Given the description of an element on the screen output the (x, y) to click on. 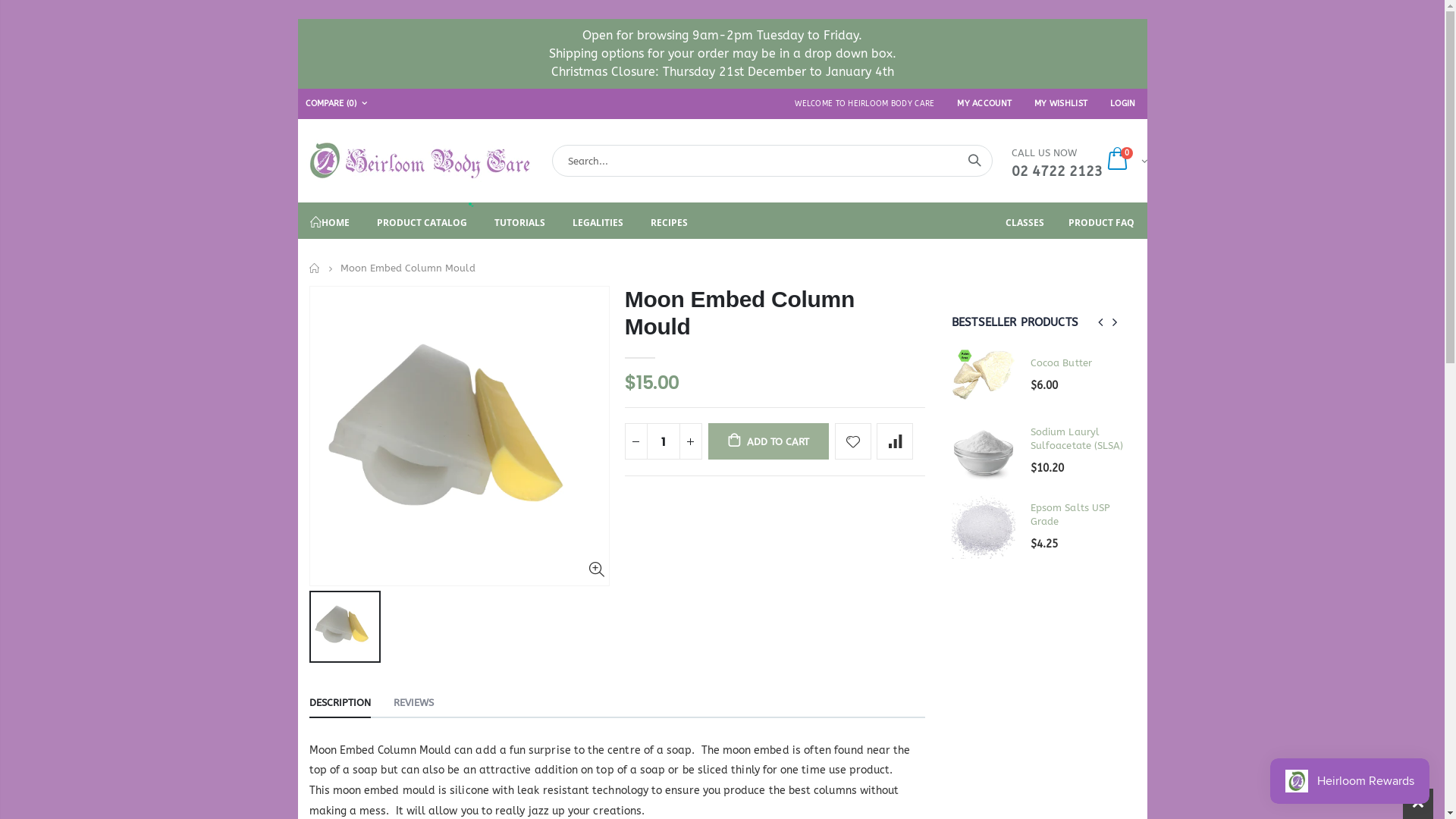
CLASSES Element type: text (1024, 220)
Add to wishlist Element type: hover (852, 441)
Moon Embed Column Mould Element type: text (739, 312)
ADD TO CART Element type: text (768, 441)
TUTORIALS Element type: text (519, 220)
REVIEWS Element type: text (412, 703)
MY WISHLIST Element type: text (1060, 103)
Citric Acid Element type: hover (904, 514)
PRODUCT CATALOG Element type: text (421, 220)
PRODUCT FAQ Element type: text (1101, 220)
DESCRIPTION Element type: text (339, 703)
0 Element type: text (1124, 160)
Search Element type: text (974, 160)
MY ACCOUNT Element type: text (984, 103)
Almond Oil-Sweet Element type: hover (904, 363)
HOME Element type: text (328, 220)
Smile.io Rewards Program Launcher Element type: hover (1349, 780)
COMPARE (0) Element type: text (336, 103)
RECIPES Element type: text (668, 220)
Shea Butter Refined - Organic Element type: text (1077, 438)
Castor Oil - Hexane Free Element type: hover (904, 438)
Home Element type: text (314, 267)
LEGALITIES Element type: text (597, 220)
Coconut Oil RBD Element type: text (1077, 363)
Add to compare Element type: hover (894, 441)
Bicarbonate of Soda - USA Element type: text (1077, 514)
LOGIN Element type: text (1122, 103)
